Given the description of an element on the screen output the (x, y) to click on. 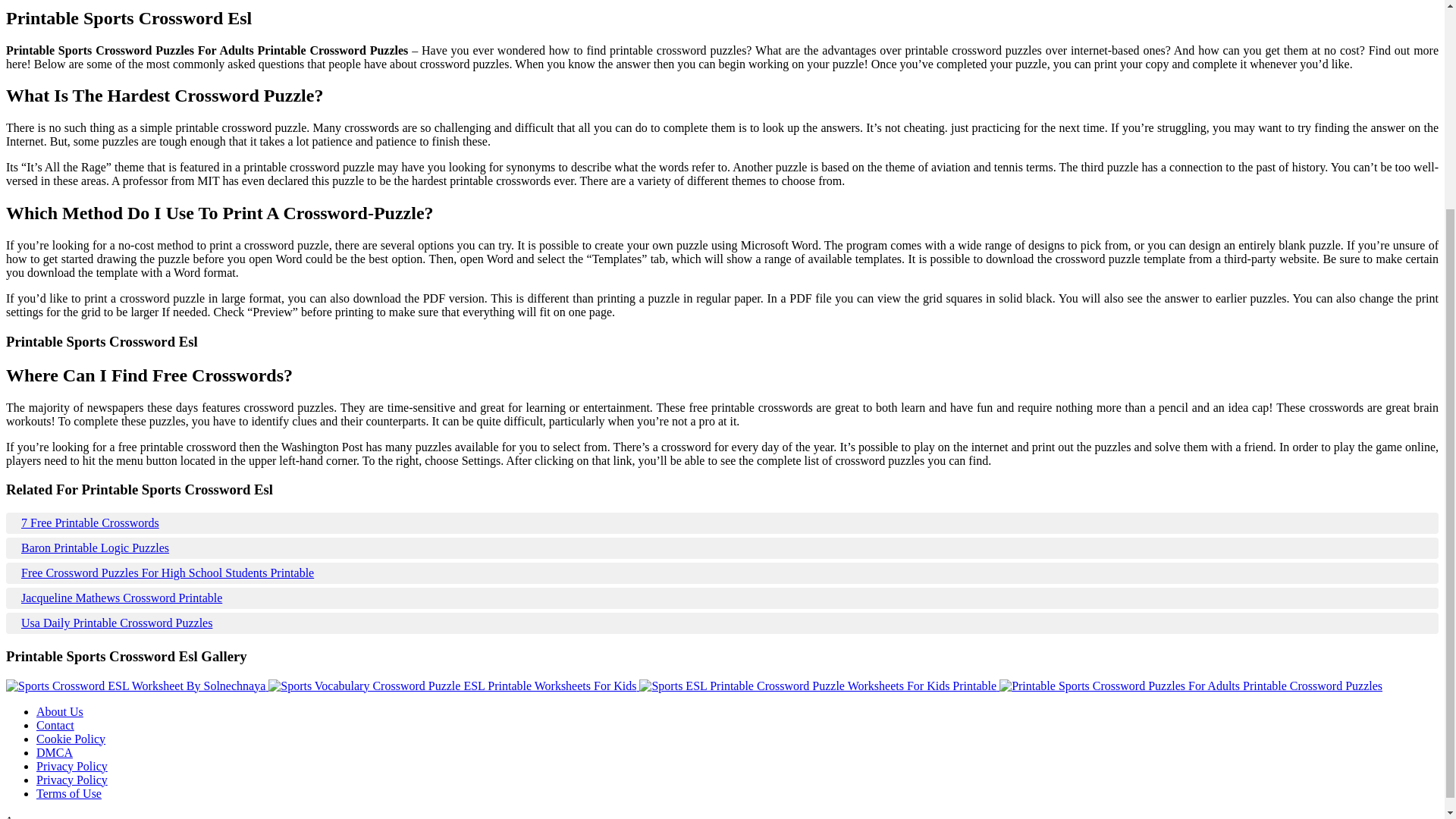
7 Free Printable Crosswords (722, 523)
Sports Crossword ESL Worksheet By Solnechnaya (136, 685)
Sports Crossword ESL Worksheet By Solnechnaya (134, 685)
Cookie Policy (70, 738)
Free Crossword Puzzles For High School Students Printable (722, 573)
Jacqueline Mathews Crossword Printable (722, 597)
Contact (55, 725)
Baron Printable Logic Puzzles (722, 547)
Privacy Policy (71, 766)
About Us (59, 711)
